Given the description of an element on the screen output the (x, y) to click on. 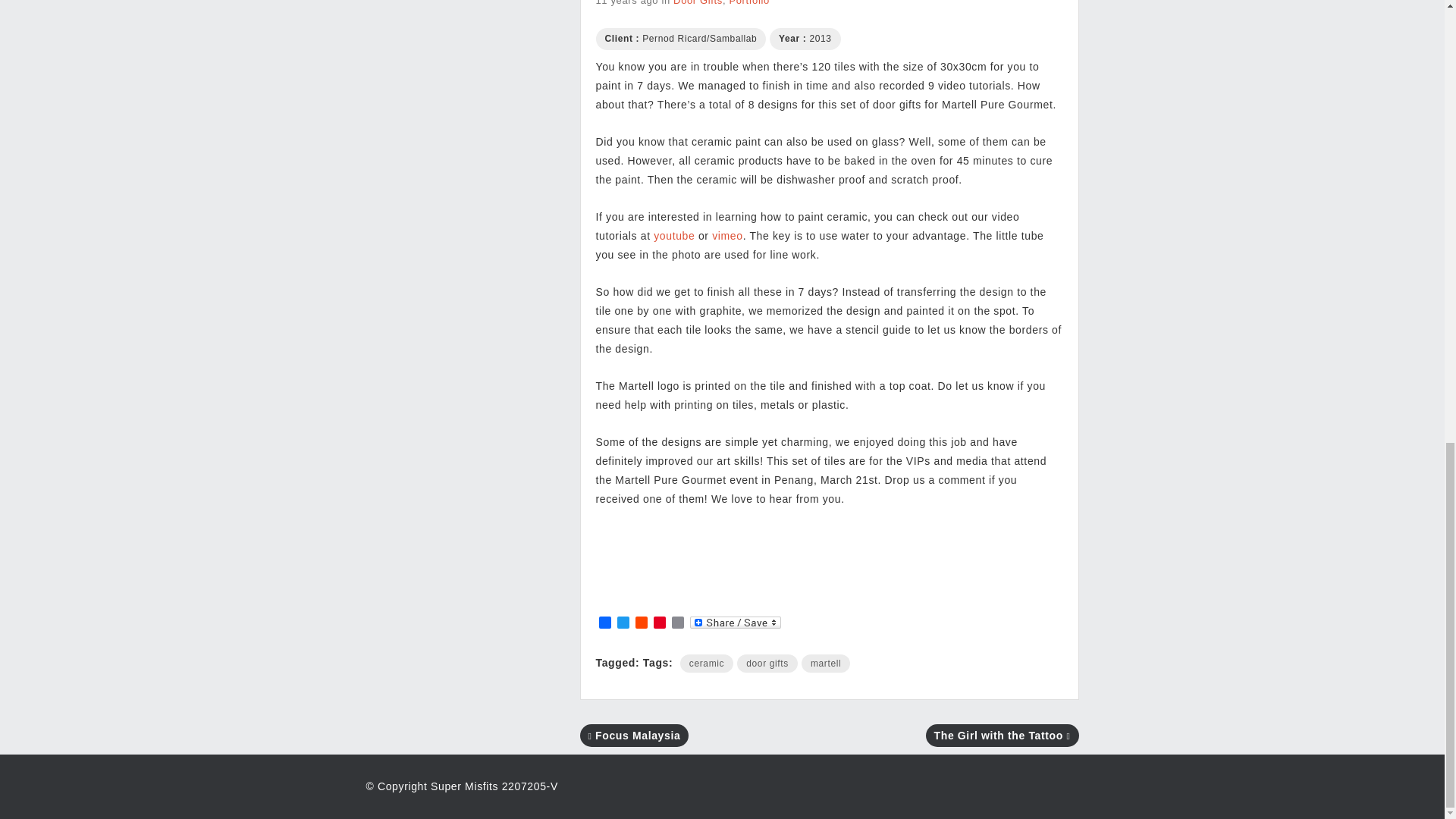
Reddit (640, 623)
Twitter (622, 623)
Email (677, 623)
Facebook (604, 623)
Pinterest (659, 623)
